Given the description of an element on the screen output the (x, y) to click on. 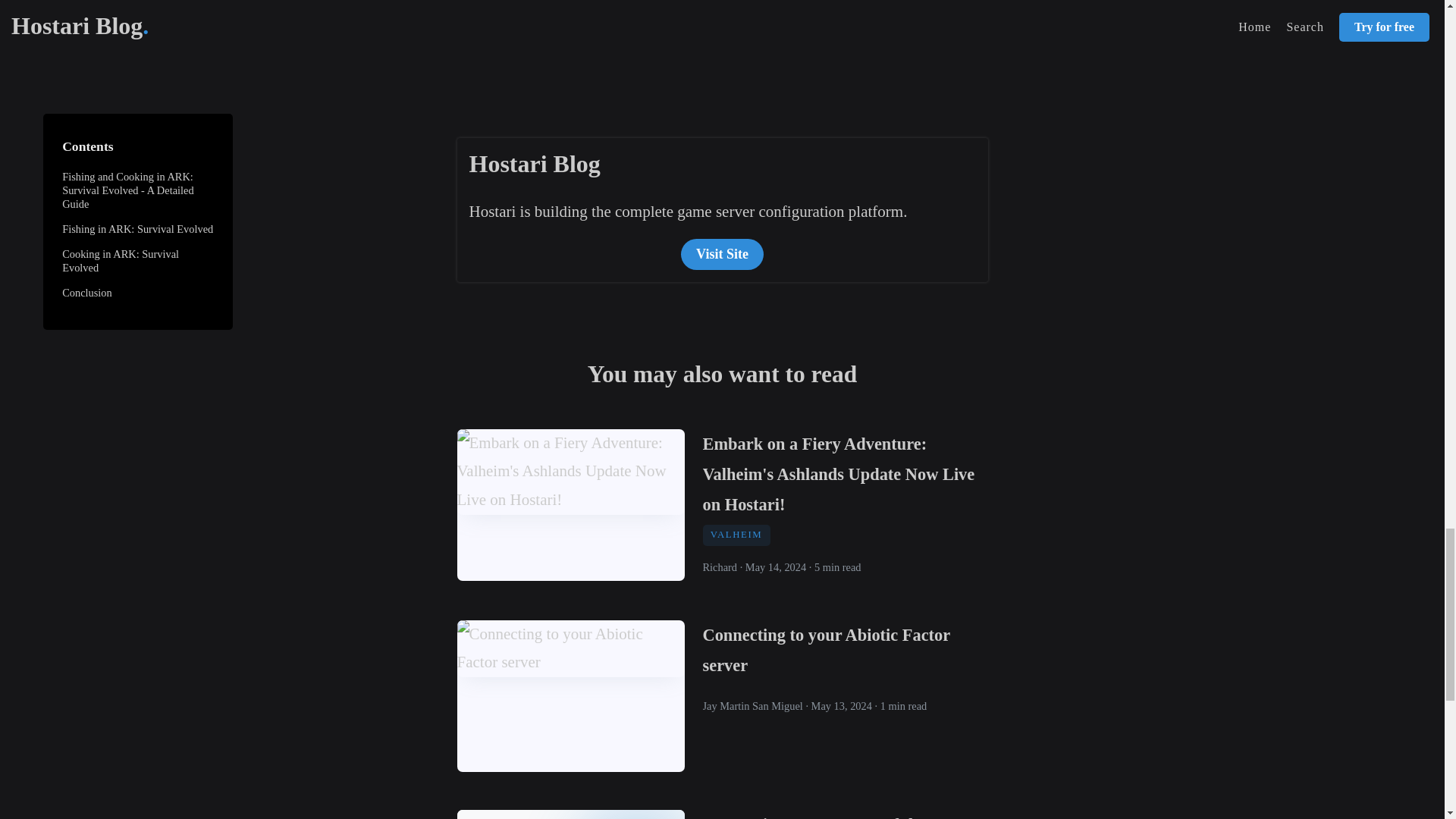
BEGINNER'S GUIDE (695, 45)
Visit Site (721, 254)
ARK: SURVIVAL EVOLVED (542, 45)
